Given the description of an element on the screen output the (x, y) to click on. 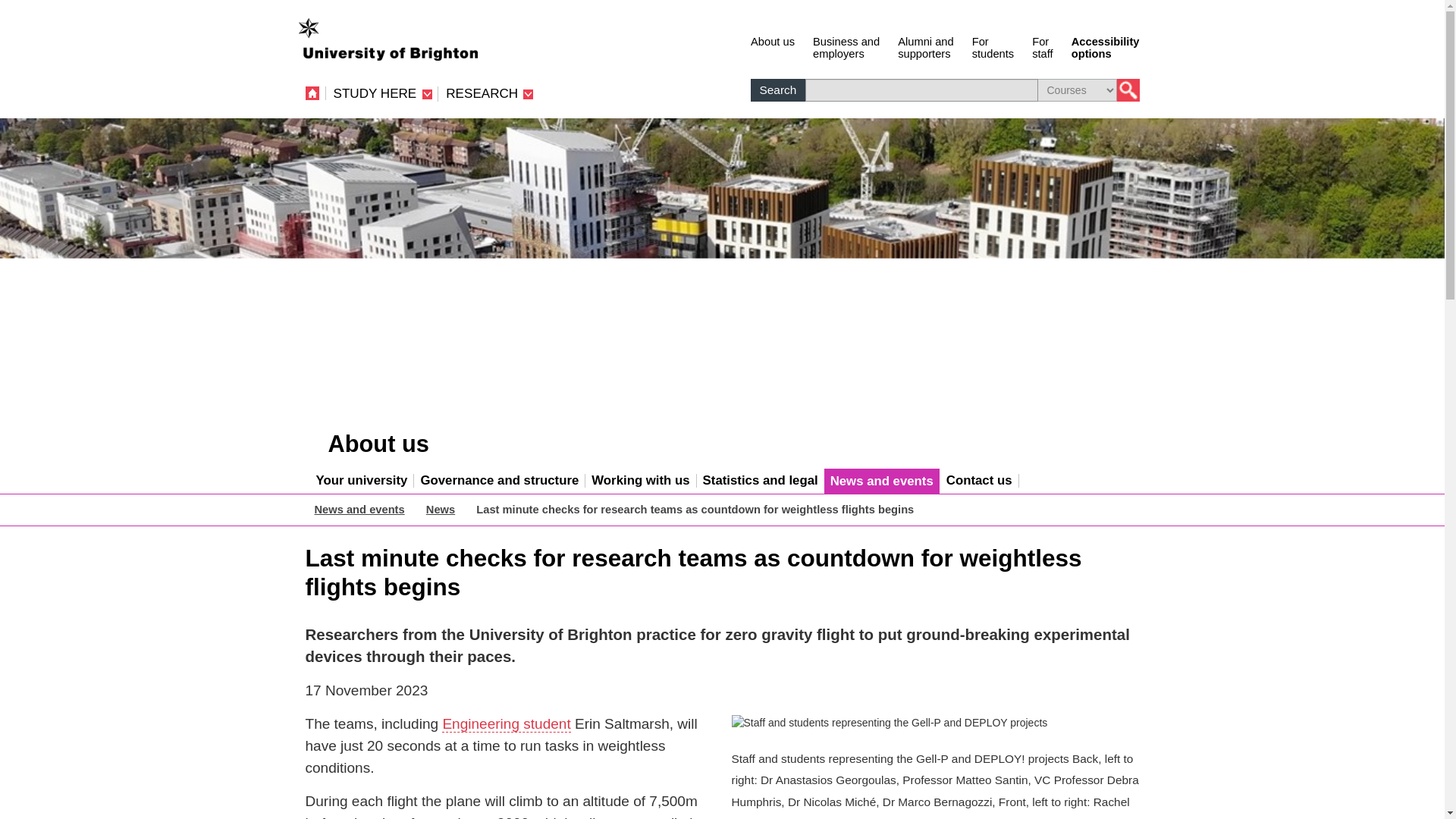
About us (772, 46)
STUDY HERE (382, 93)
For staff (1042, 46)
Accessibility options (1042, 46)
About us (1105, 46)
For students (772, 46)
Business and employers (993, 46)
